Given the description of an element on the screen output the (x, y) to click on. 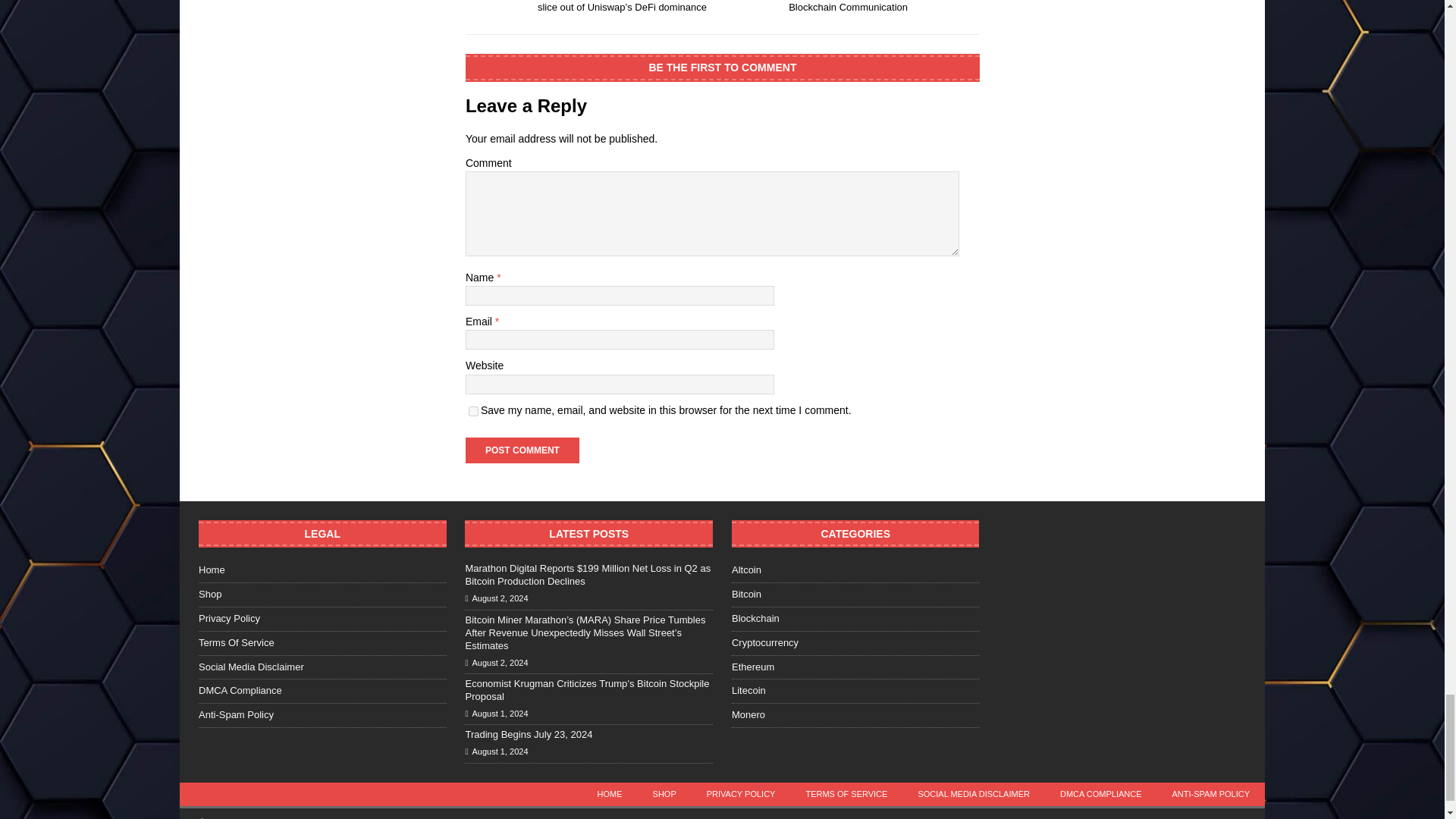
Post Comment (522, 450)
yes (473, 411)
